Given the description of an element on the screen output the (x, y) to click on. 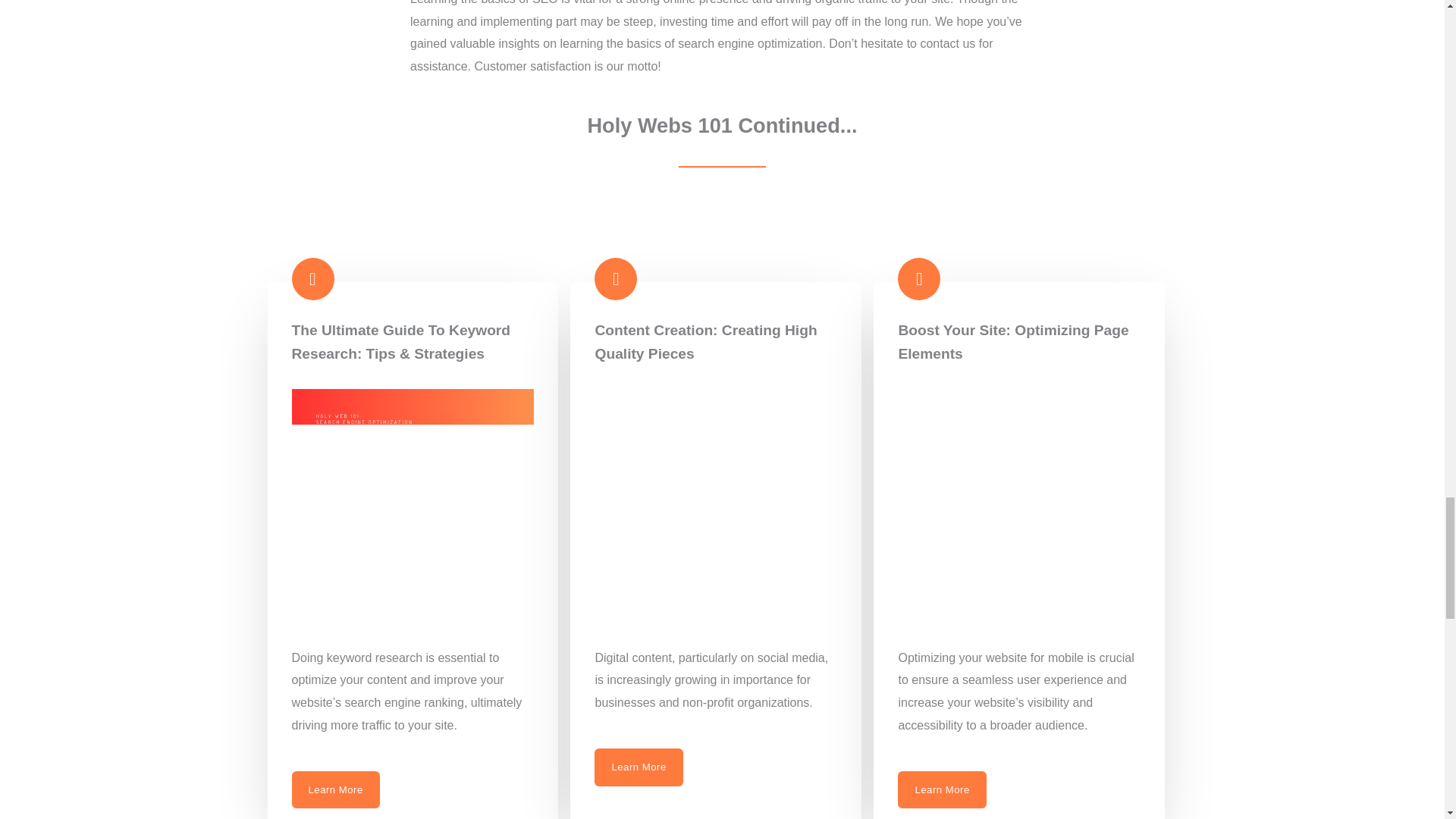
Learn More (941, 789)
Learn More (334, 789)
Learn More (638, 766)
